Given the description of an element on the screen output the (x, y) to click on. 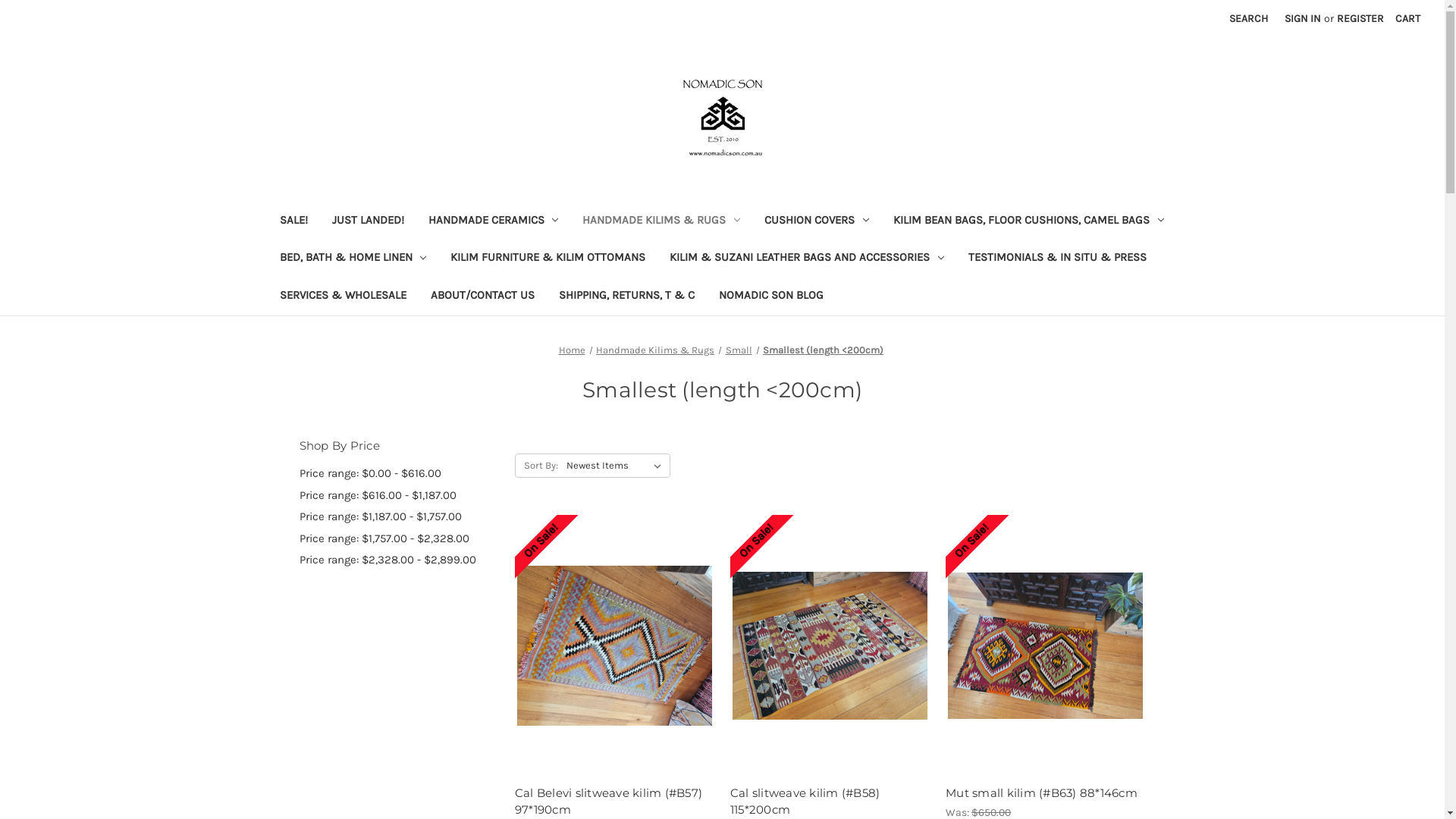
Smallest (length <200cm) Element type: text (822, 349)
Price range: $0.00 - $616.00 Element type: text (398, 473)
SEARCH Element type: text (1248, 18)
Price range: $1,757.00 - $2,328.00 Element type: text (398, 538)
CART Element type: text (1407, 18)
SALE! Element type: text (292, 221)
HANDMADE CERAMICS Element type: text (492, 221)
Small Element type: text (737, 349)
NOMADIC SON BLOG Element type: text (770, 296)
KILIM BEAN BAGS, FLOOR CUSHIONS, CAMEL BAGS Element type: text (1028, 221)
KILIM & SUZANI LEATHER BAGS AND ACCESSORIES Element type: text (806, 258)
Handmade Kilims & Rugs Element type: text (655, 349)
Mut small kilim (#B63) 88*146cm Element type: text (1045, 793)
NOMADIC SON Element type: hover (721, 117)
Price range: $2,328.00 - $2,899.00 Element type: text (398, 560)
Home Element type: text (571, 349)
Price range: $616.00 - $1,187.00 Element type: text (398, 495)
TESTIMONIALS & IN SITU & PRESS Element type: text (1057, 258)
Price range: $1,187.00 - $1,757.00 Element type: text (398, 516)
ABOUT/CONTACT US Element type: text (482, 296)
Cal Belevi slitweave kilim (#B57) 97*190cm Element type: hover (614, 645)
REGISTER Element type: text (1360, 18)
Cal slitweave kilim (#B58) 115*200cm Element type: hover (829, 645)
KILIM FURNITURE & KILIM OTTOMANS Element type: text (547, 258)
BED, BATH & HOME LINEN Element type: text (352, 258)
SHIPPING, RETURNS, T & C Element type: text (626, 296)
SIGN IN Element type: text (1302, 18)
JUST LANDED! Element type: text (368, 221)
SERVICES & WHOLESALE Element type: text (341, 296)
Mut small kilim (#B63) 88*146cm Element type: hover (1044, 645)
HANDMADE KILIMS & RUGS Element type: text (661, 221)
CUSHION COVERS Element type: text (816, 221)
